Given the description of an element on the screen output the (x, y) to click on. 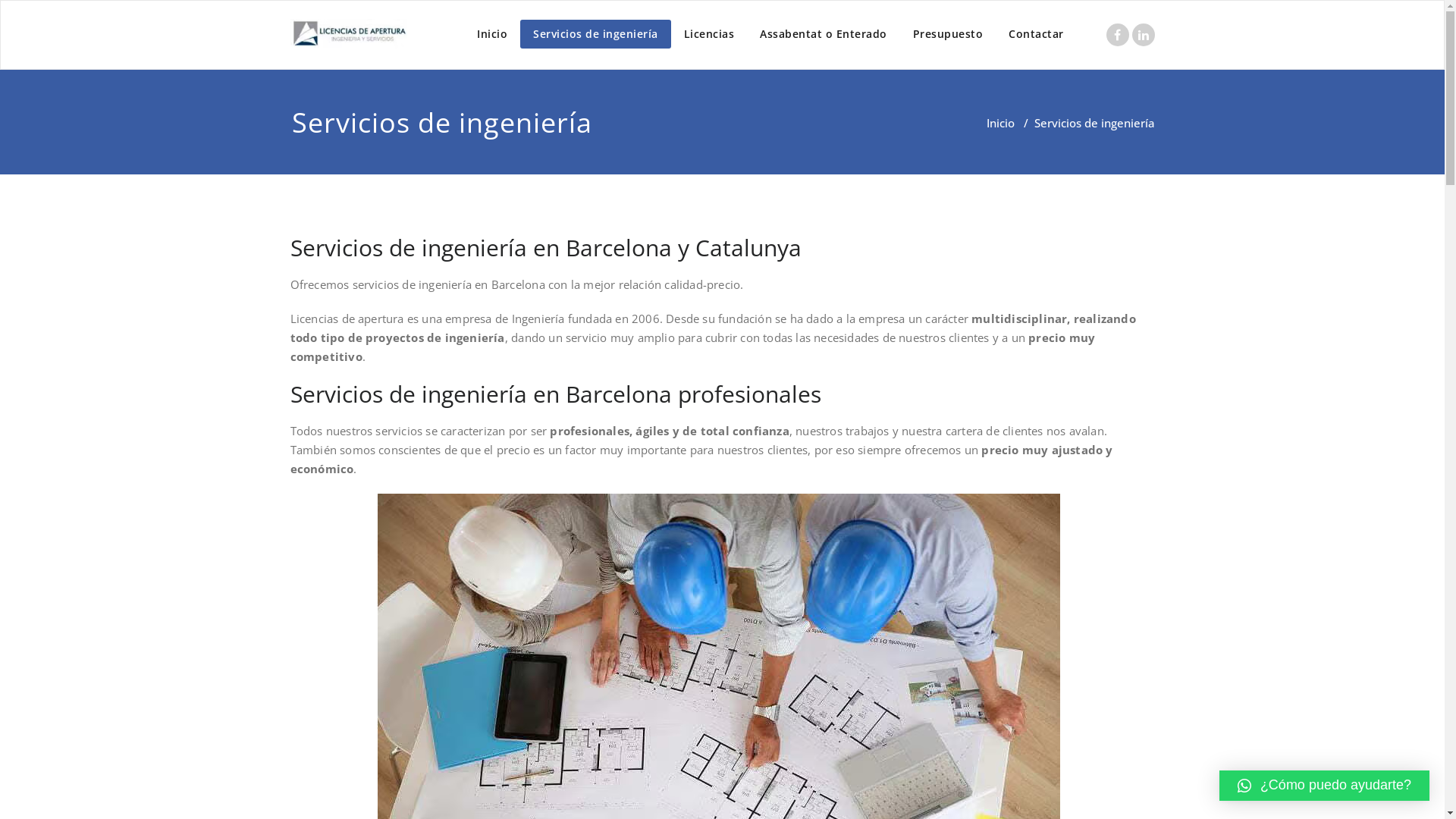
Licencias Element type: text (708, 33)
Presupuesto Element type: text (947, 33)
Contactar Element type: text (1035, 33)
Inicio Element type: text (999, 122)
Inicio Element type: text (492, 33)
Assabentat o Enterado Element type: text (823, 33)
